Given the description of an element on the screen output the (x, y) to click on. 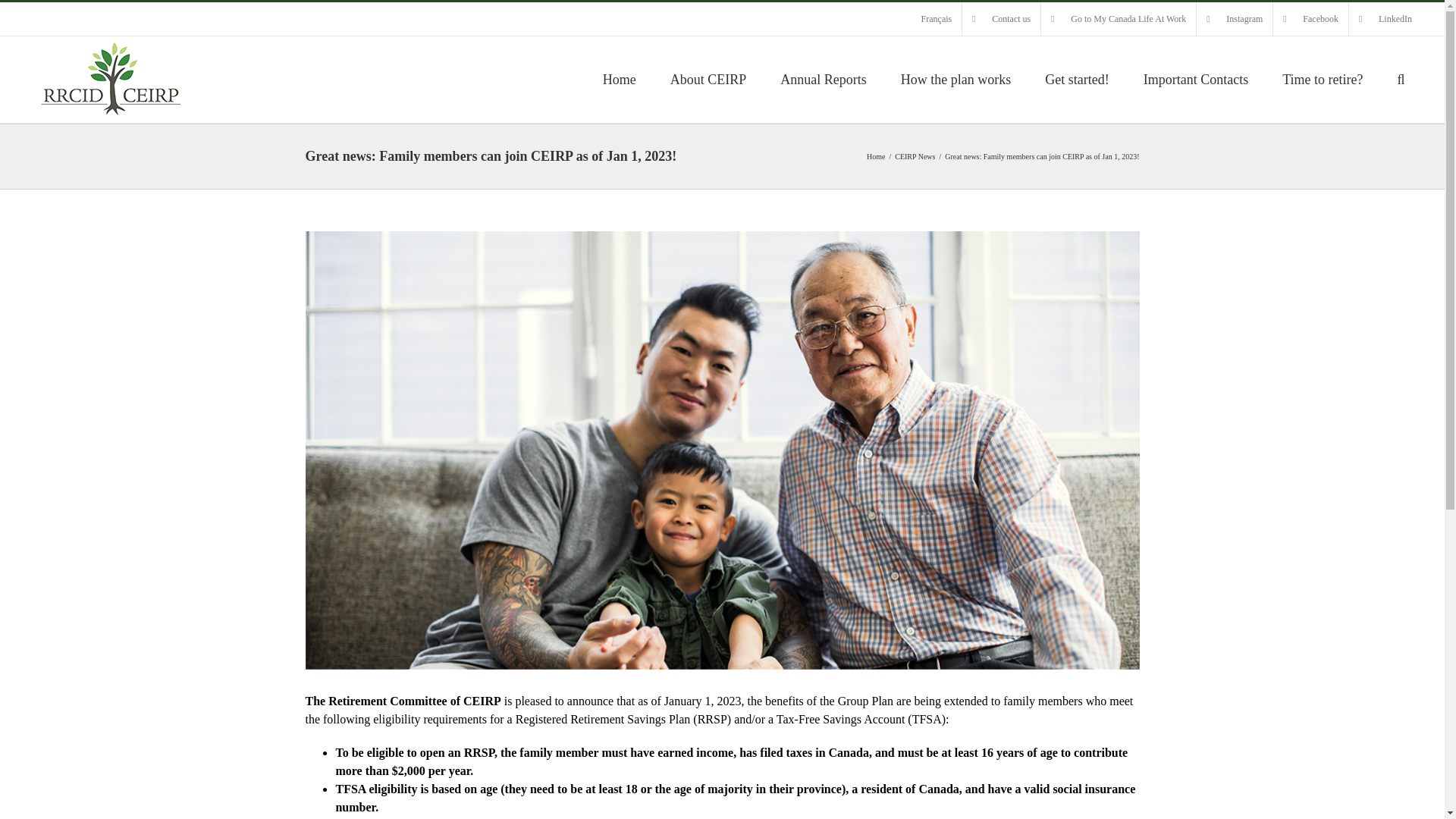
Get started! (1076, 79)
Time to retire? (1322, 79)
Important Contacts (1195, 79)
Contact us (1001, 19)
About CEIRP (707, 79)
Instagram (1234, 19)
Annual Reports (822, 79)
How the plan works (955, 79)
LinkedIn (1385, 19)
